Given the description of an element on the screen output the (x, y) to click on. 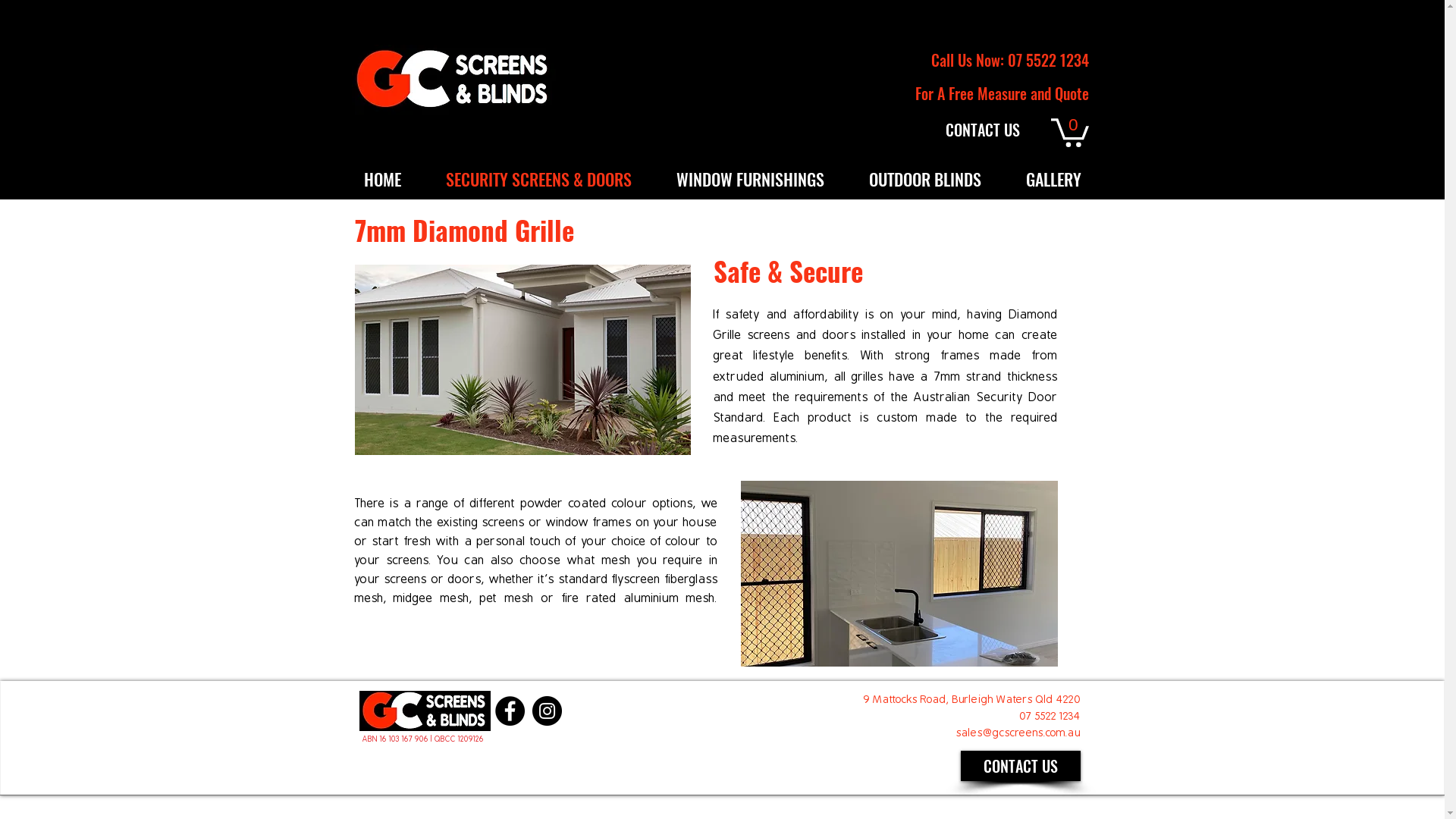
sales@gcscreens.com.au Element type: text (1017, 732)
9 Mattocks Road, Burleigh Waters Qld 4220 Element type: text (970, 698)
CONTACT US Element type: text (1019, 765)
For A Free Measure and Quote Element type: text (1001, 92)
OUTDOOR BLINDS Element type: text (924, 179)
HOME Element type: text (381, 179)
0 Element type: text (1069, 131)
  Element type: text (860, 698)
GALLERY Element type: text (1053, 179)
Call Us Now: 07 5522 1234 Element type: text (1009, 59)
CONTACT US Element type: text (981, 129)
WINDOW FURNISHINGS Element type: text (749, 179)
SECURITY SCREENS & DOORS Element type: text (537, 179)
